Given the description of an element on the screen output the (x, y) to click on. 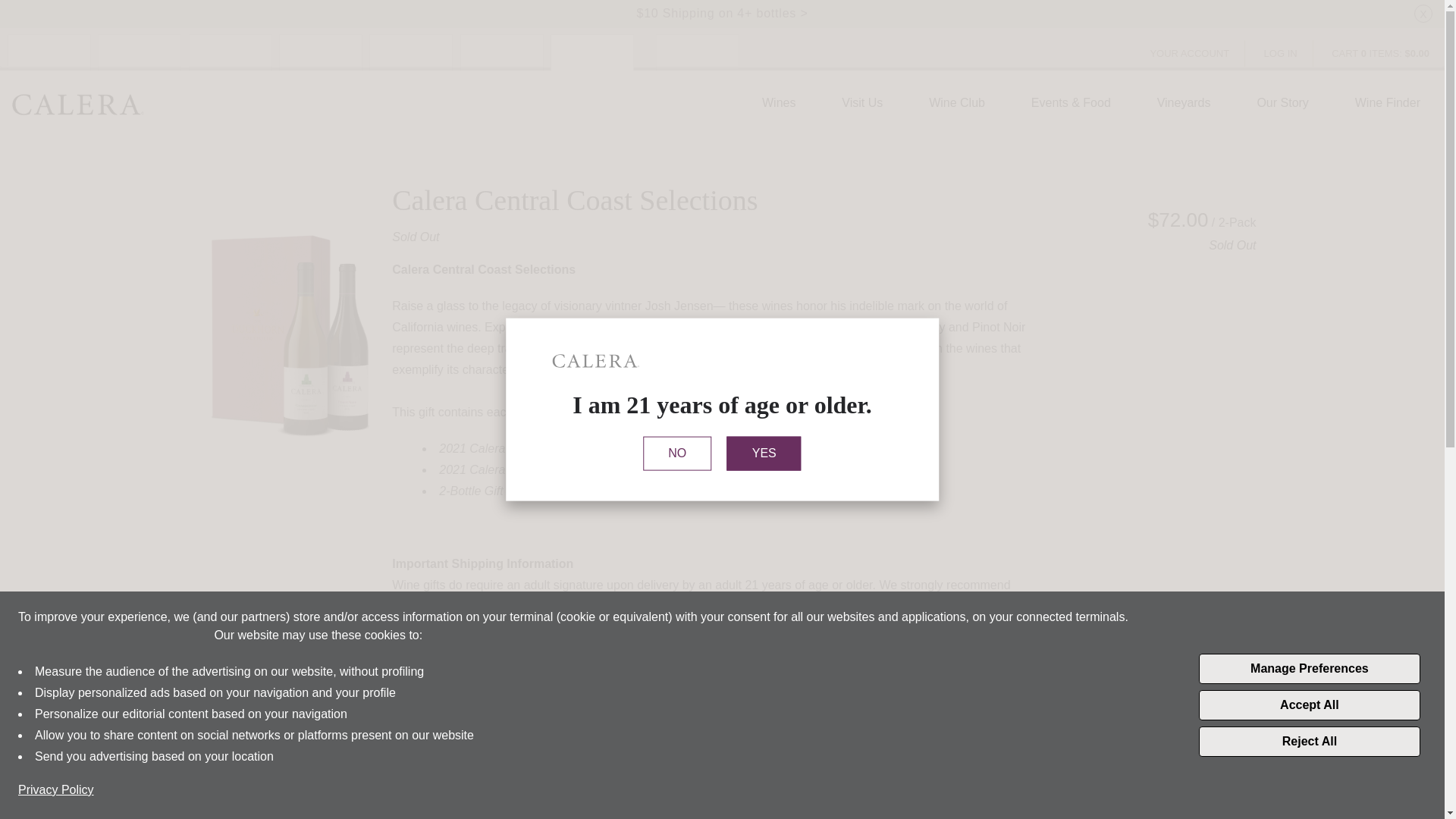
LOG IN (1281, 53)
Reject All (1309, 741)
Privacy Policy (55, 789)
Accept All (1309, 705)
Manage Preferences (1309, 668)
X (1422, 13)
YOUR ACCOUNT (1189, 53)
Visit Us (862, 102)
Wine Club (957, 102)
